Given the description of an element on the screen output the (x, y) to click on. 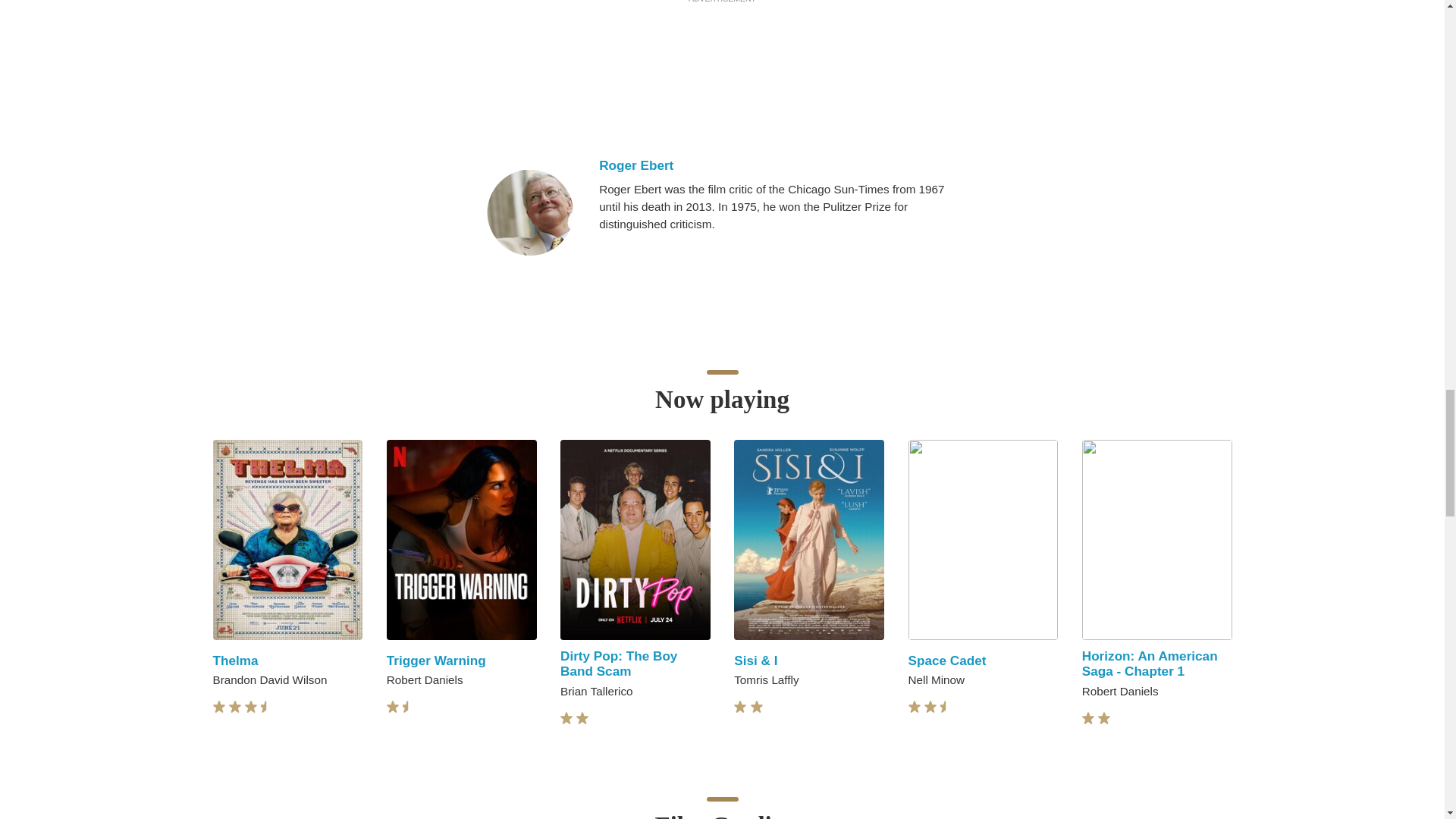
star-full (250, 707)
Trigger Warning (436, 660)
Roger Ebert (529, 212)
star-full (218, 707)
star-full (234, 707)
Horizon: An American Saga - Chapter 1 (1149, 663)
star-half (266, 707)
star-full (392, 707)
Dirty Pop: The Boy Band Scam (618, 663)
Space Cadet (947, 660)
Thelma (234, 660)
Roger Ebert (782, 165)
